Given the description of an element on the screen output the (x, y) to click on. 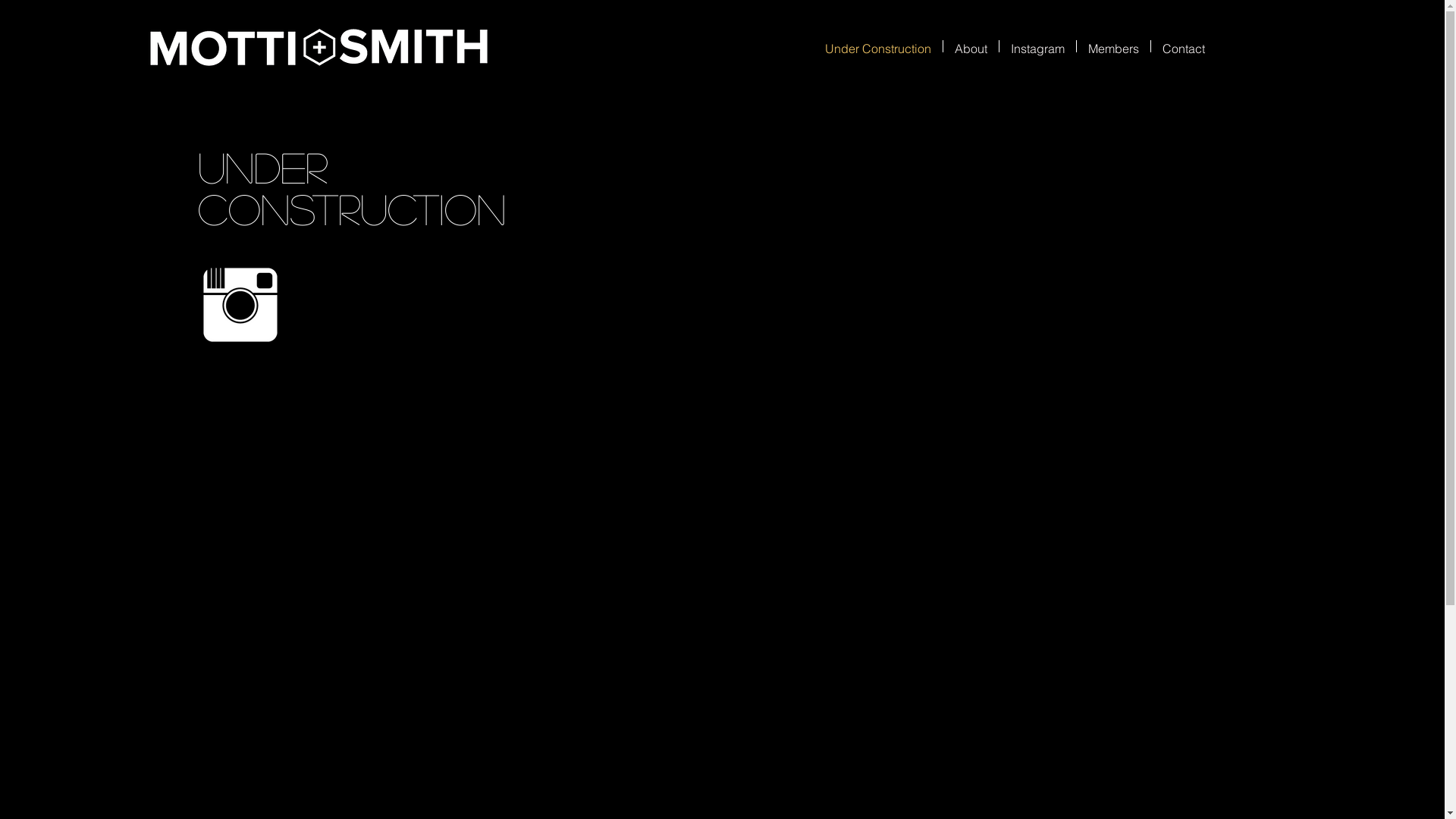
Under Construction Element type: text (876, 46)
Instagram Element type: text (1037, 46)
Members Element type: text (1113, 46)
Contact Element type: text (1183, 46)
About Element type: text (970, 46)
